Given the description of an element on the screen output the (x, y) to click on. 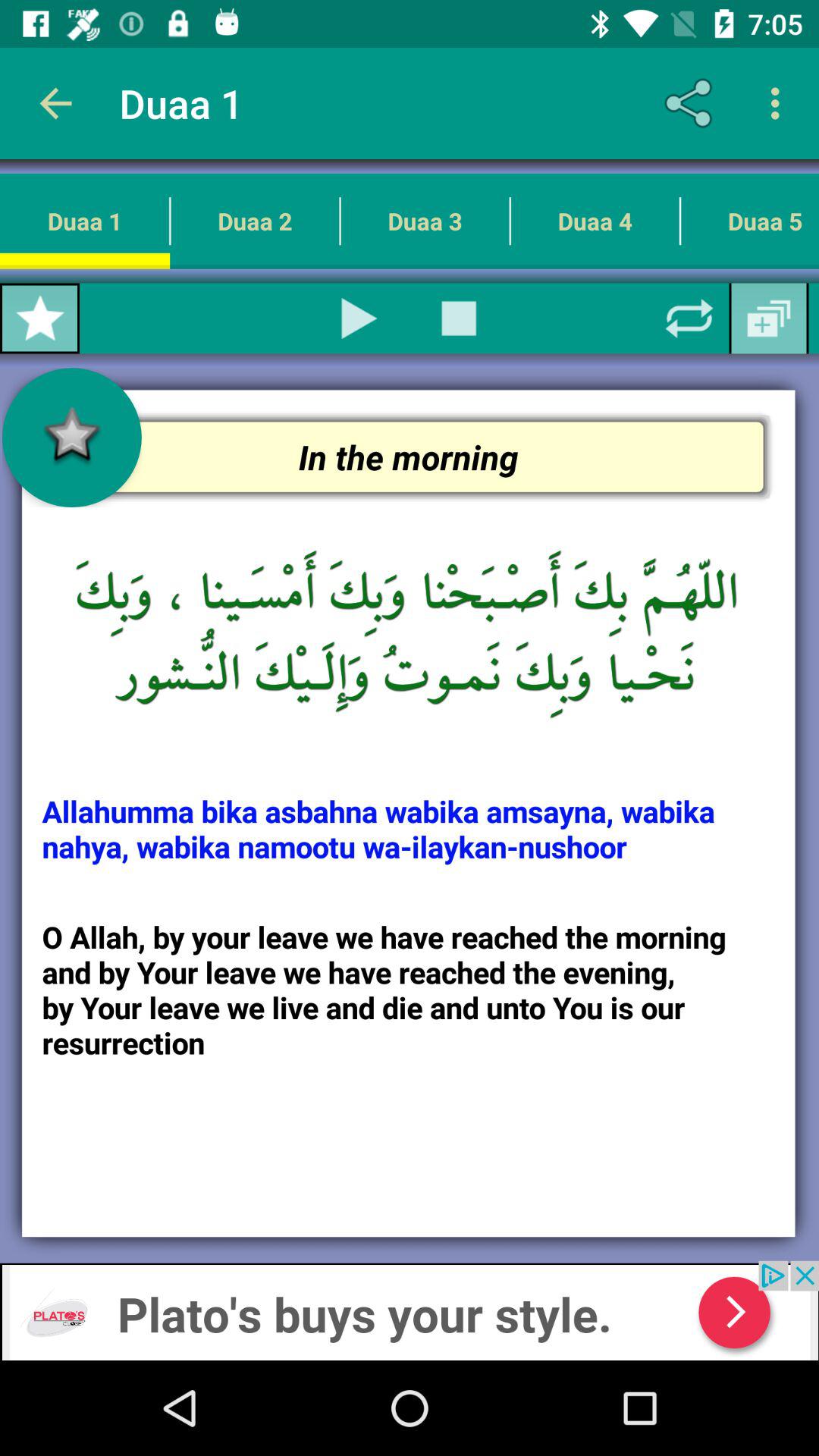
play this mantra or prayer (359, 318)
